Given the description of an element on the screen output the (x, y) to click on. 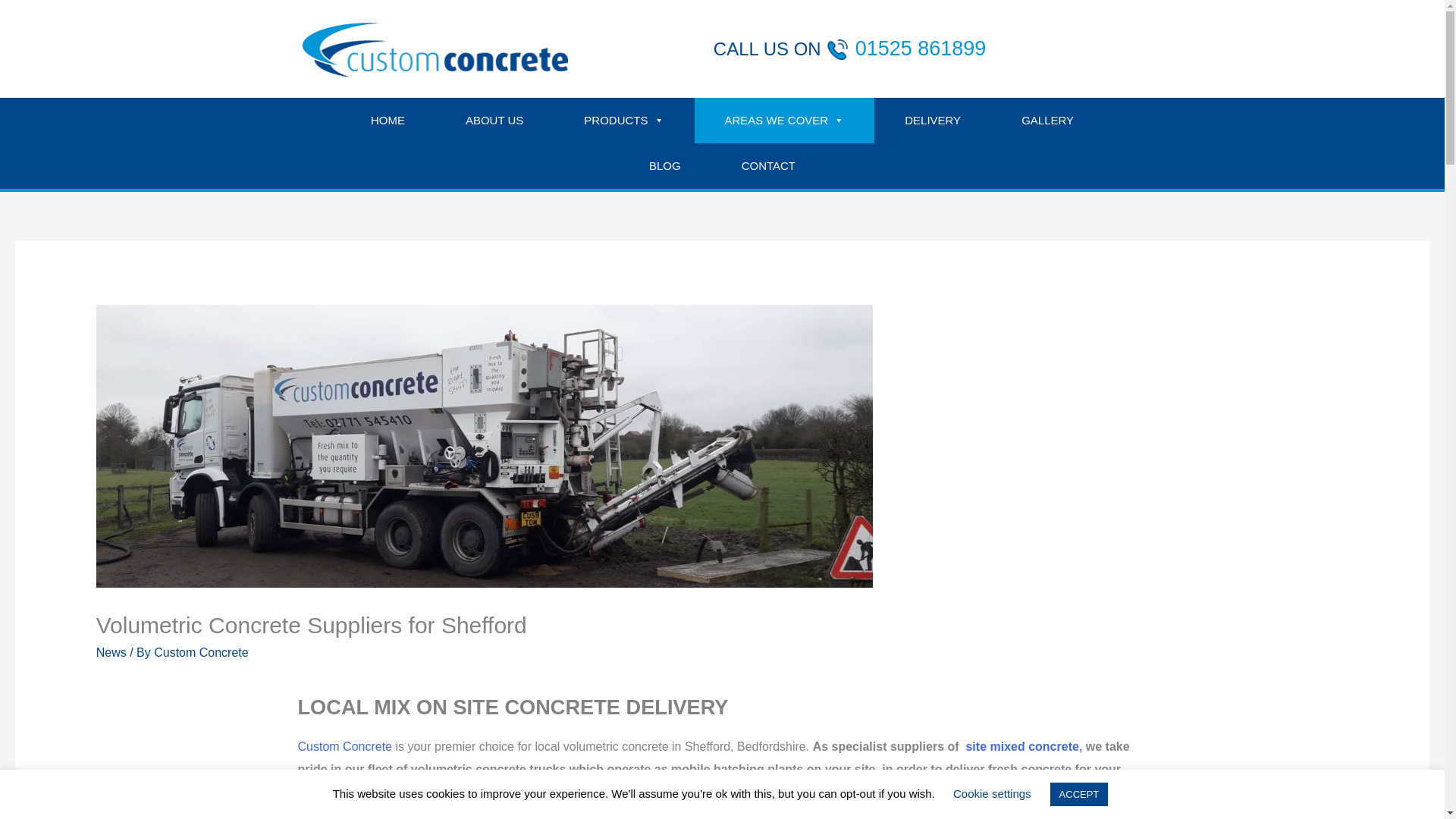
telephone (837, 49)
01525 861899 (921, 47)
